Given the description of an element on the screen output the (x, y) to click on. 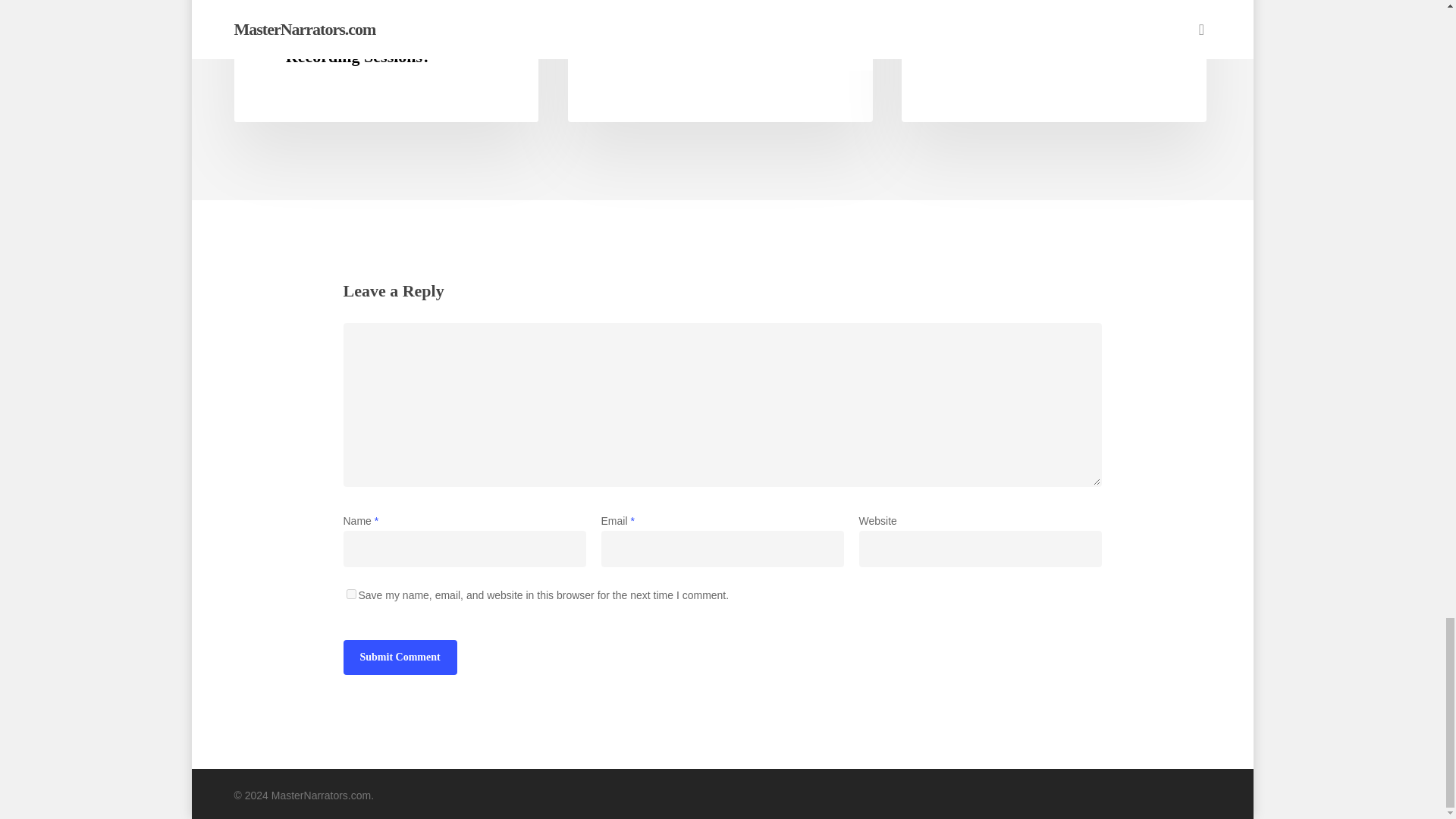
yes (350, 593)
Submit Comment (399, 656)
Submit Comment (399, 656)
